Given the description of an element on the screen output the (x, y) to click on. 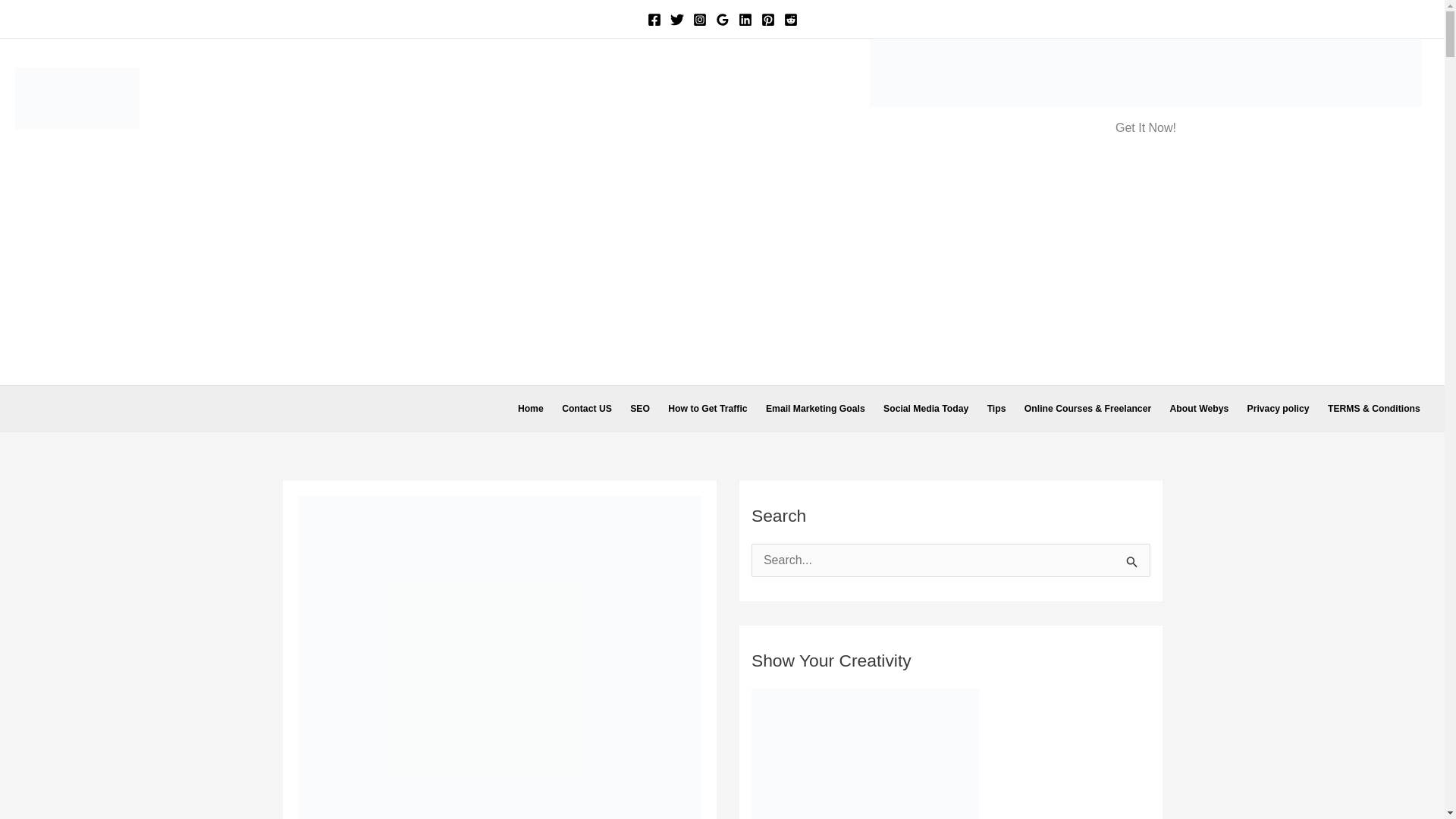
How To Get Traffic (708, 408)
Email Marketing Goals (816, 408)
Home (530, 408)
Social Media Today (926, 408)
Social Media Today (926, 408)
Privacy Policy (1277, 408)
Contact US (587, 408)
Email Marketing Goals (816, 408)
About Webys (1198, 408)
